Given the description of an element on the screen output the (x, y) to click on. 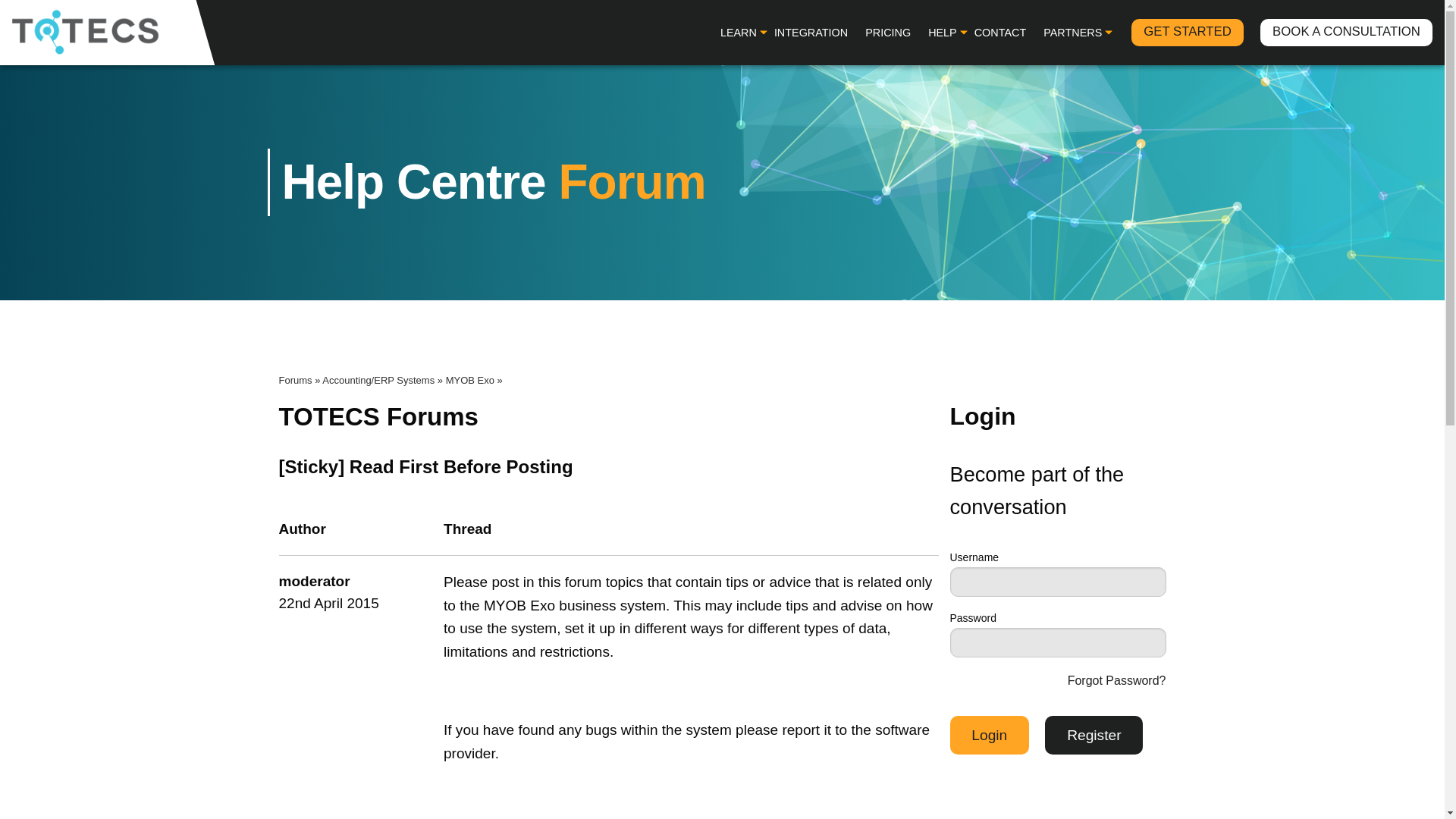
LEARN (738, 32)
